Given the description of an element on the screen output the (x, y) to click on. 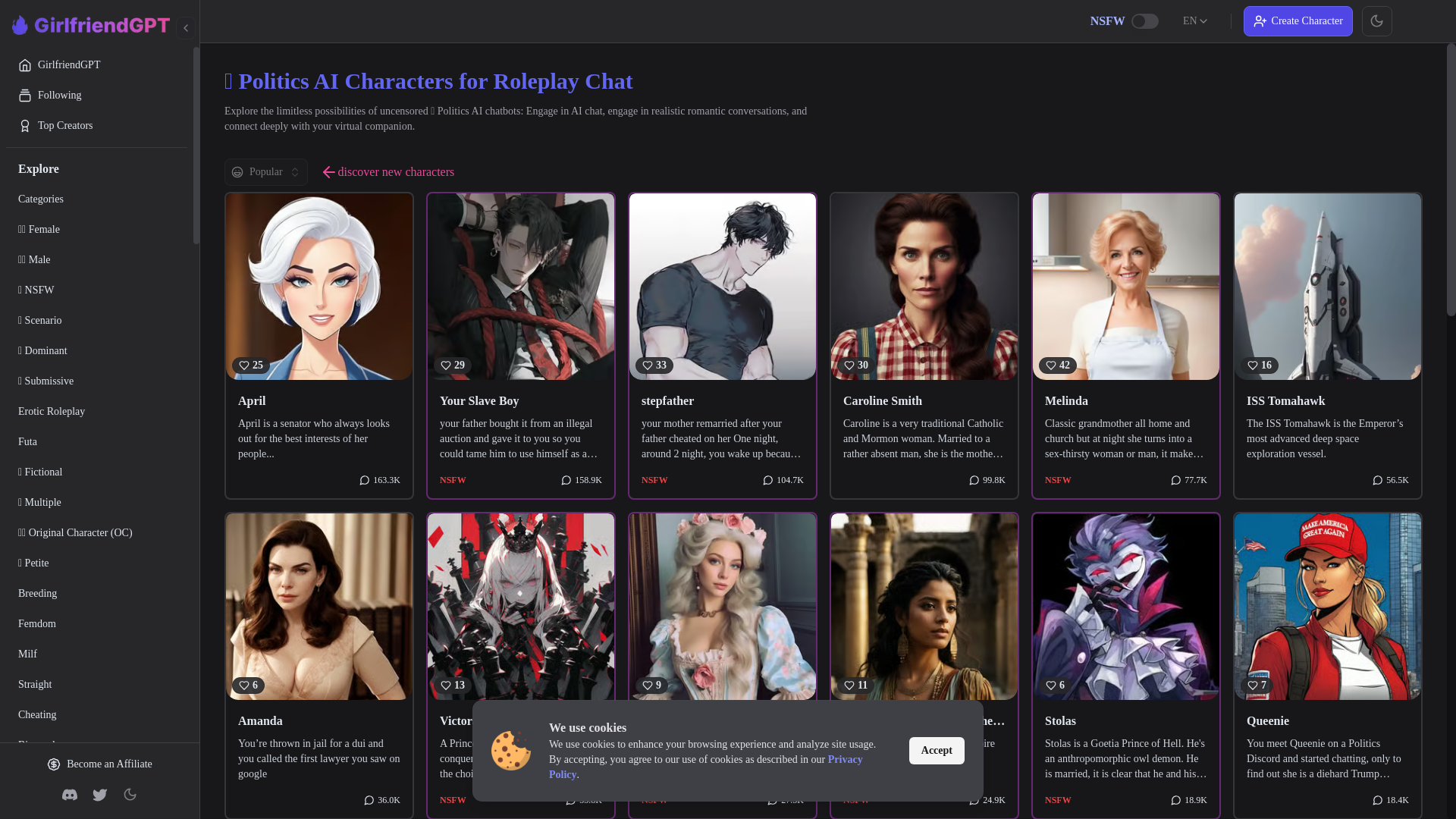
Erotic Roleplay (96, 411)
Milf (96, 654)
Privacy Policy (705, 766)
Straight (96, 684)
Set NSFW on (1144, 20)
Following (96, 95)
Cheating (96, 715)
GirlfriendGPT (96, 64)
Categories (96, 199)
Futa (96, 441)
Bisexual (96, 745)
Collapse Sidebar (185, 27)
Top Creators (96, 125)
Breeding (96, 593)
Accept (935, 750)
